Given the description of an element on the screen output the (x, y) to click on. 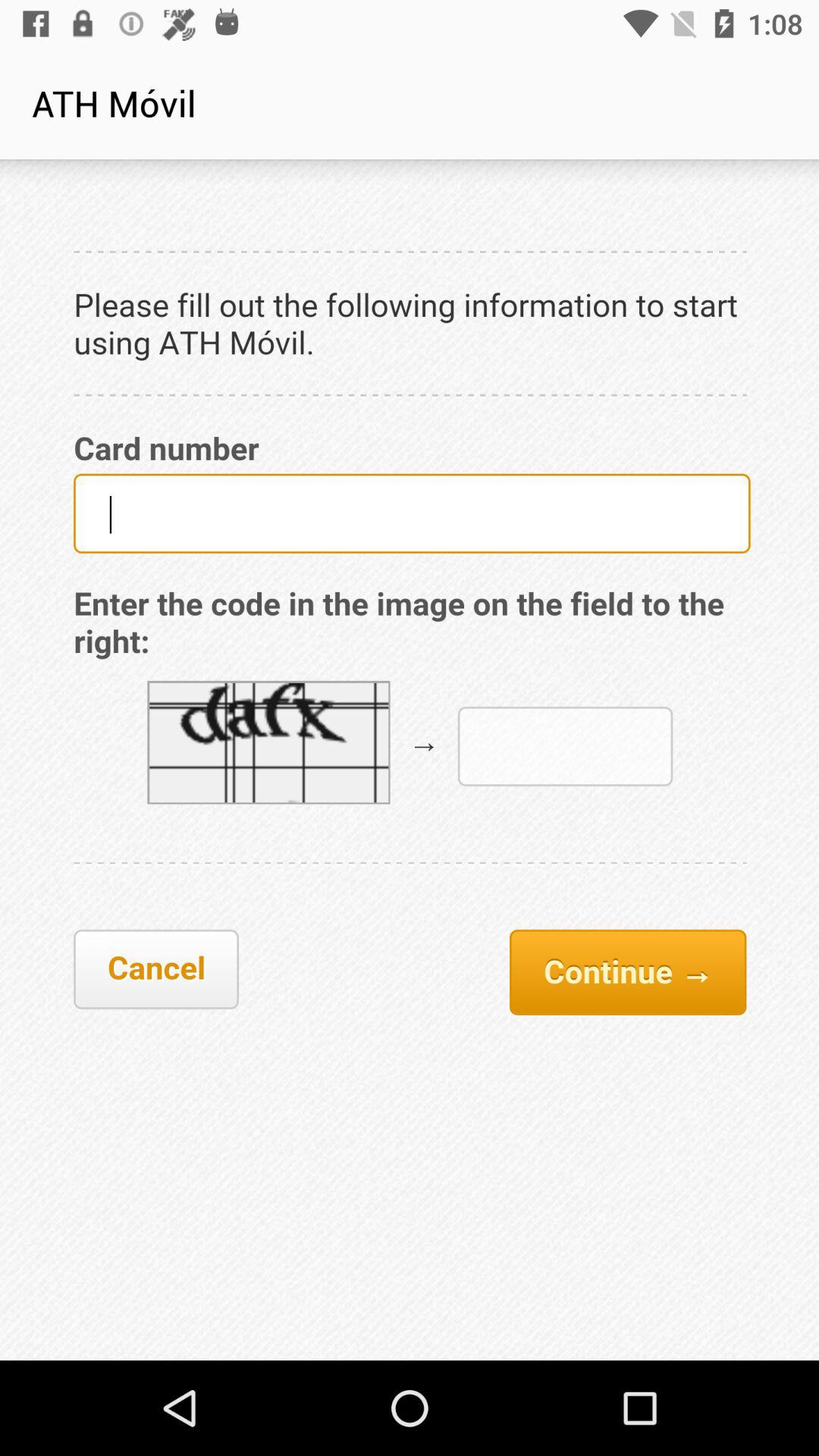
middle page (409, 759)
